Given the description of an element on the screen output the (x, y) to click on. 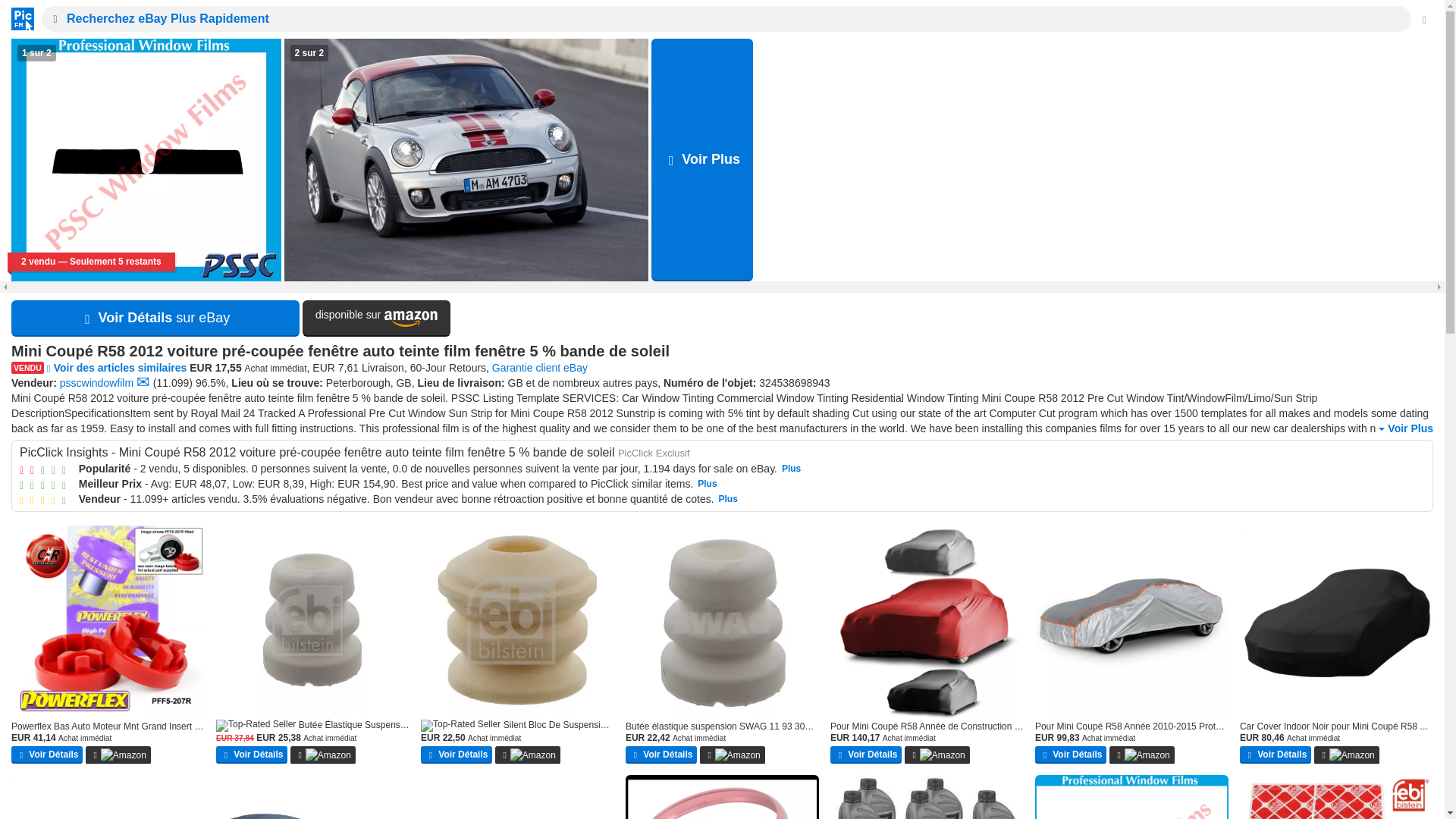
PicClick (18, 18)
PicClick Exclusif (653, 452)
psscwindowfilm (96, 382)
disponible sur (375, 318)
2 sur 2 (466, 159)
Garantie client eBay (540, 367)
FR (18, 18)
Voir des articles similaires (116, 367)
11.099 Positive Ratings (172, 382)
eBay Item Number (793, 382)
